Given the description of an element on the screen output the (x, y) to click on. 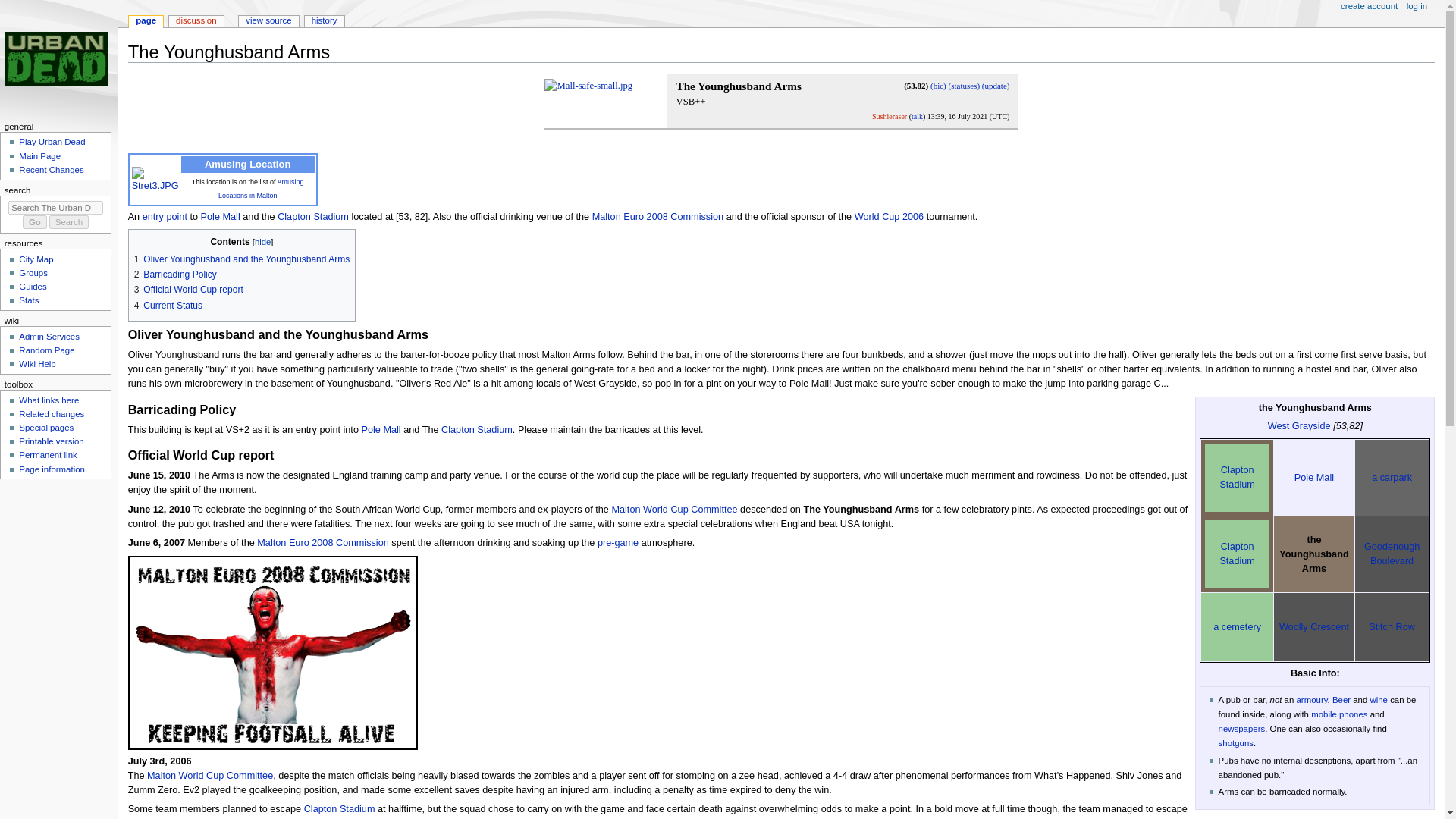
West Grayside (1299, 425)
Pole Mall (220, 216)
World Cup 2006 (888, 216)
The Younghusband Arms (737, 85)
Clapton Stadium (476, 429)
Goodenough Boulevard (1391, 553)
Search (68, 222)
Malton World Cup Committee (673, 509)
Malton Euro 2008 Commission (657, 216)
Amusing Locations in Malton (261, 188)
